Given the description of an element on the screen output the (x, y) to click on. 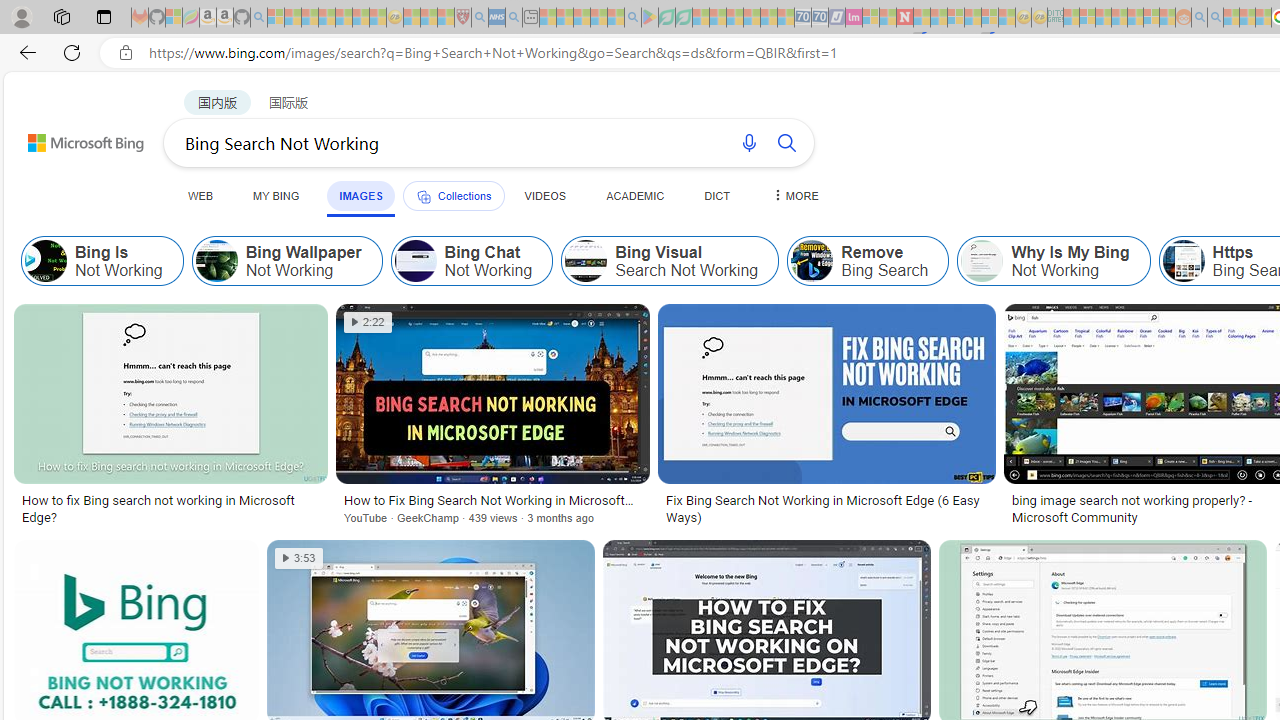
DICT (717, 195)
